Given the description of an element on the screen output the (x, y) to click on. 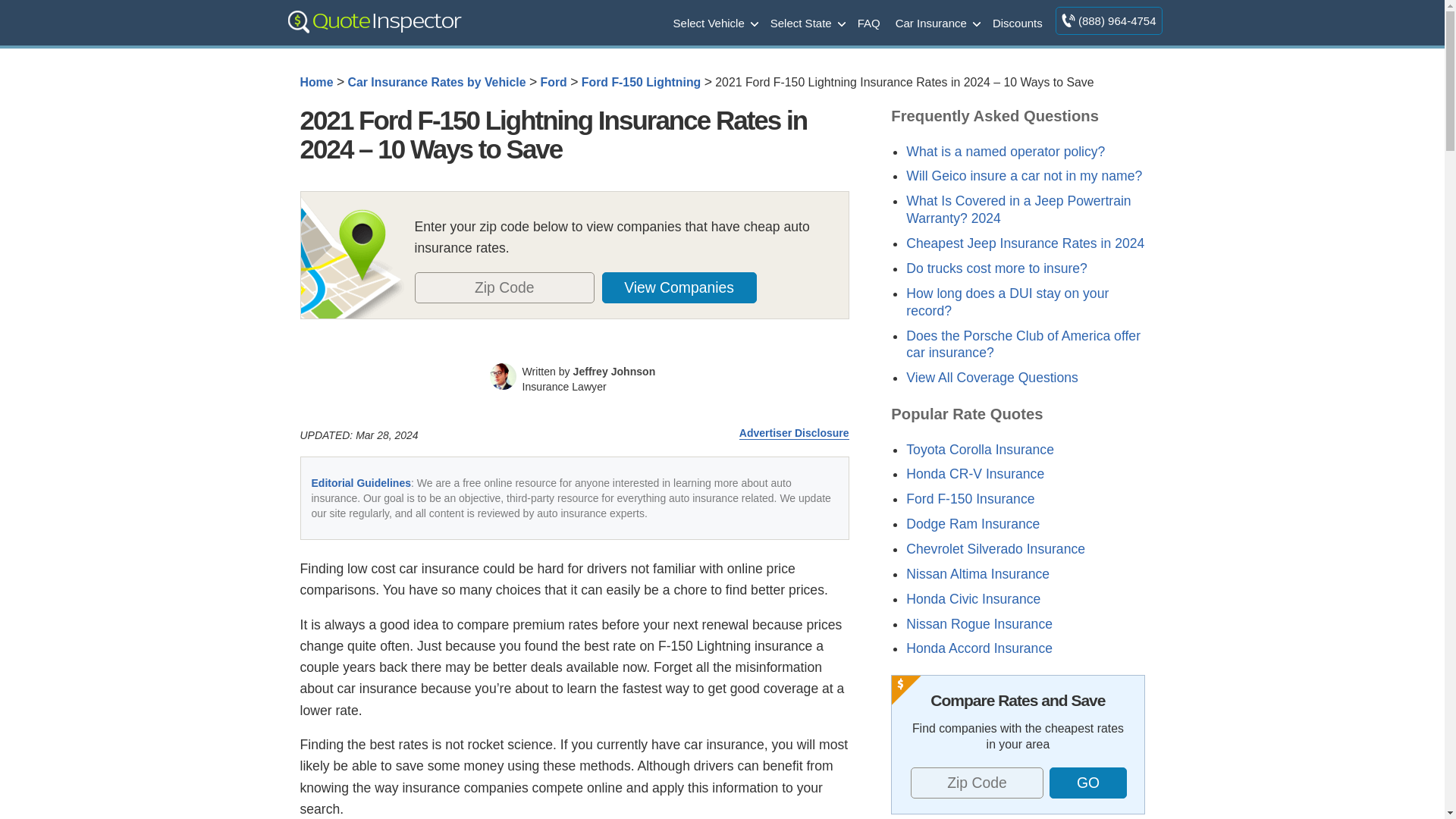
Select State (806, 22)
Ford (553, 82)
GO (1087, 782)
Ford F-150 Lightning (640, 82)
View Companies (679, 287)
Select Vehicle (713, 22)
Tap to get your quotes! (1086, 782)
Tap to get your quotes! (687, 287)
Zip Code must be filled out! (503, 287)
Zip Code must be filled out! (977, 782)
